Given the description of an element on the screen output the (x, y) to click on. 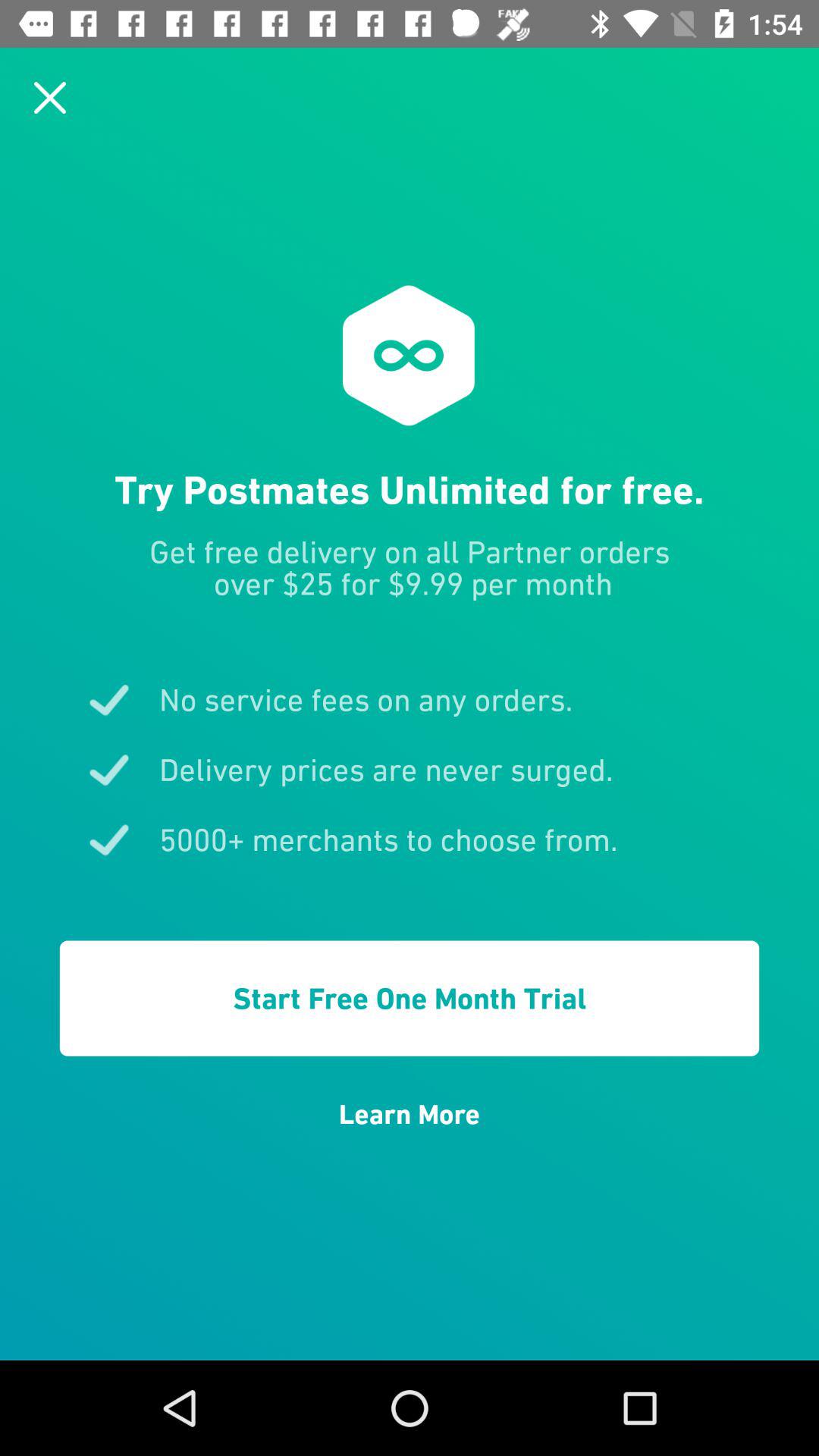
close icon (49, 97)
